Given the description of an element on the screen output the (x, y) to click on. 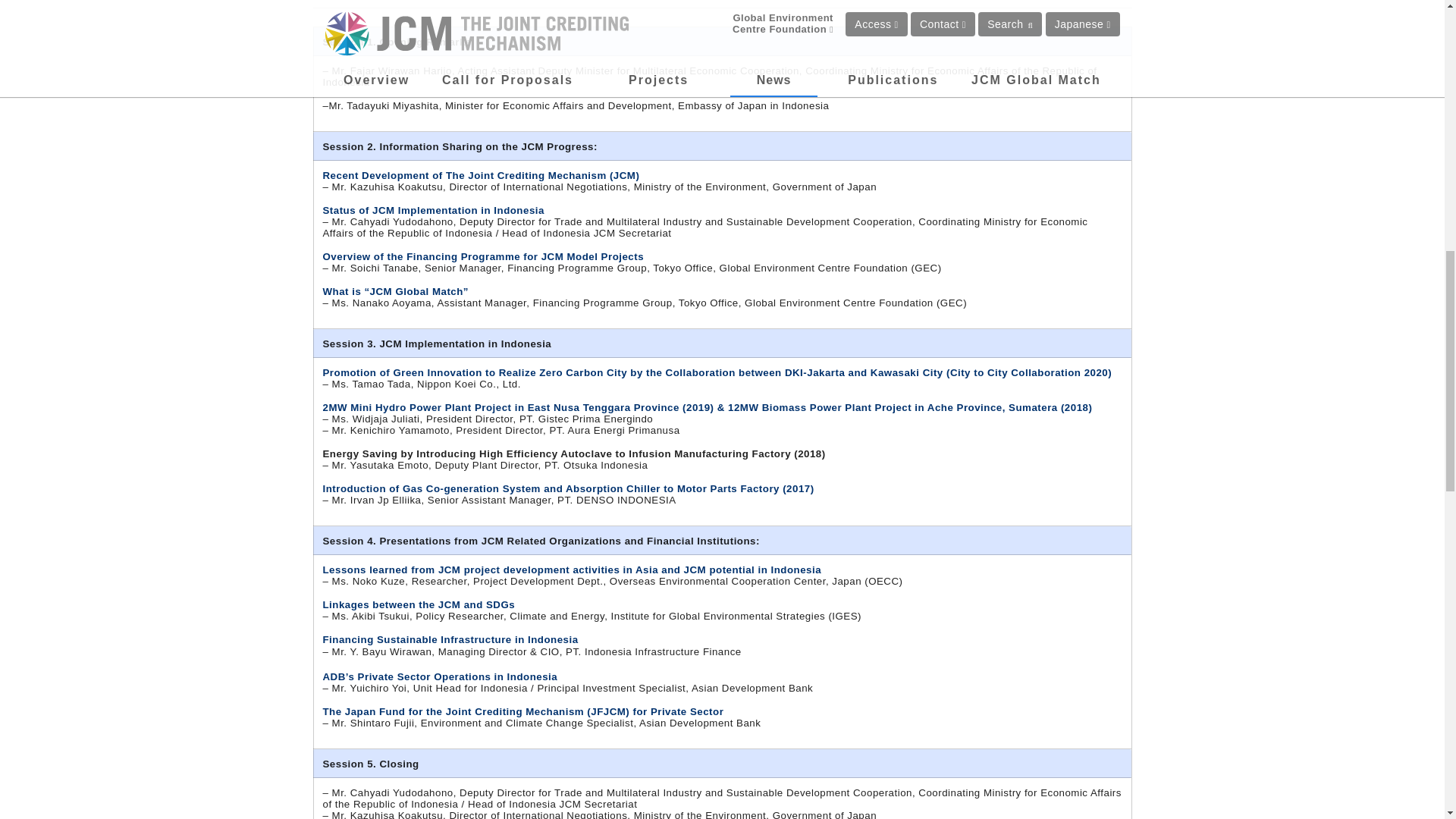
Linkages between the JCM and SDGs (419, 604)
Status of JCM Implementation in Indonesia (433, 210)
Overview of the Financing Programme for JCM Model Projects (484, 256)
Financing Sustainable Infrastructure in Indonesia (450, 639)
